Given the description of an element on the screen output the (x, y) to click on. 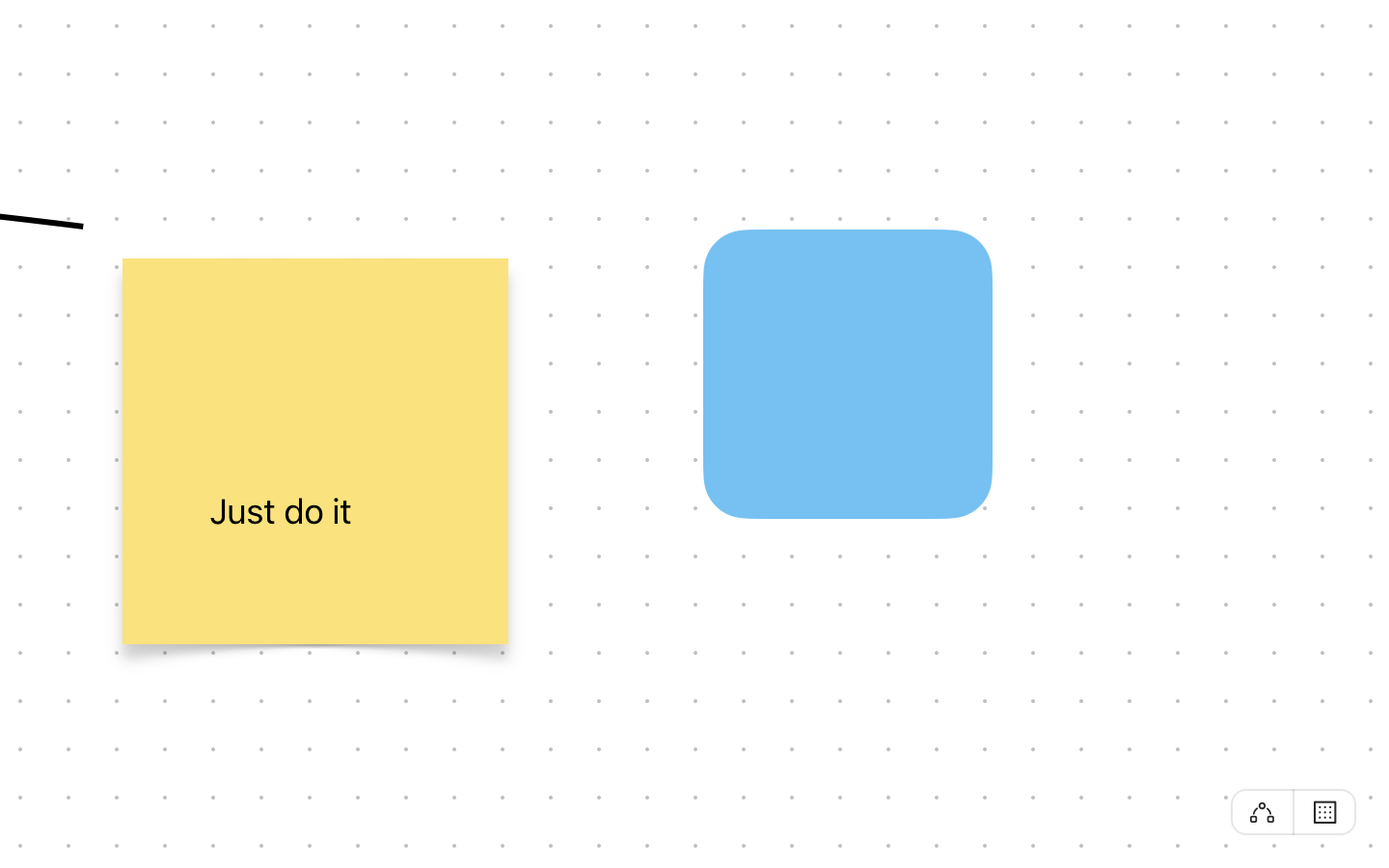
On Element type: AXButton (1325, 811)
Off Element type: AXButton (1261, 812)
